Given the description of an element on the screen output the (x, y) to click on. 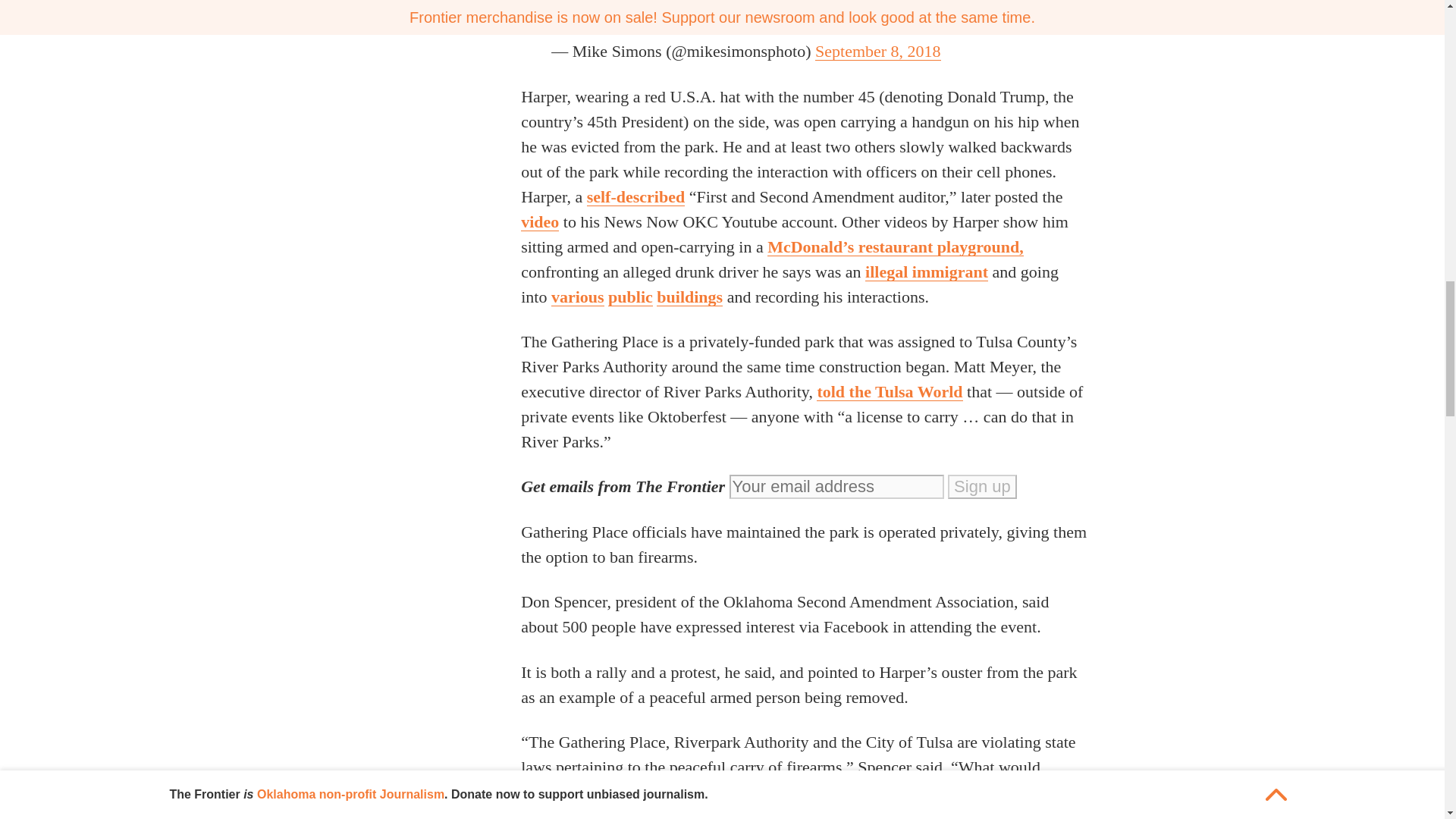
Sign up (981, 486)
